Given the description of an element on the screen output the (x, y) to click on. 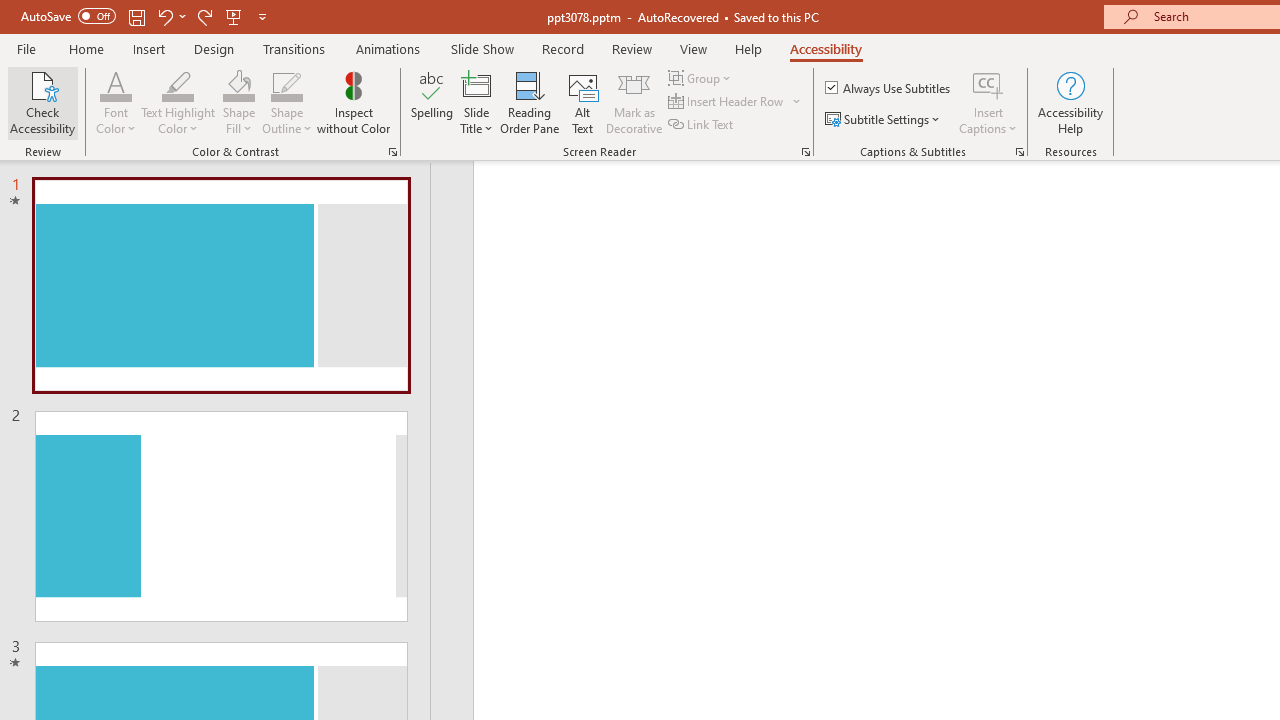
Mark as Decorative (634, 102)
Accessibility Help (1070, 102)
Subtitle Settings (884, 119)
